Given the description of an element on the screen output the (x, y) to click on. 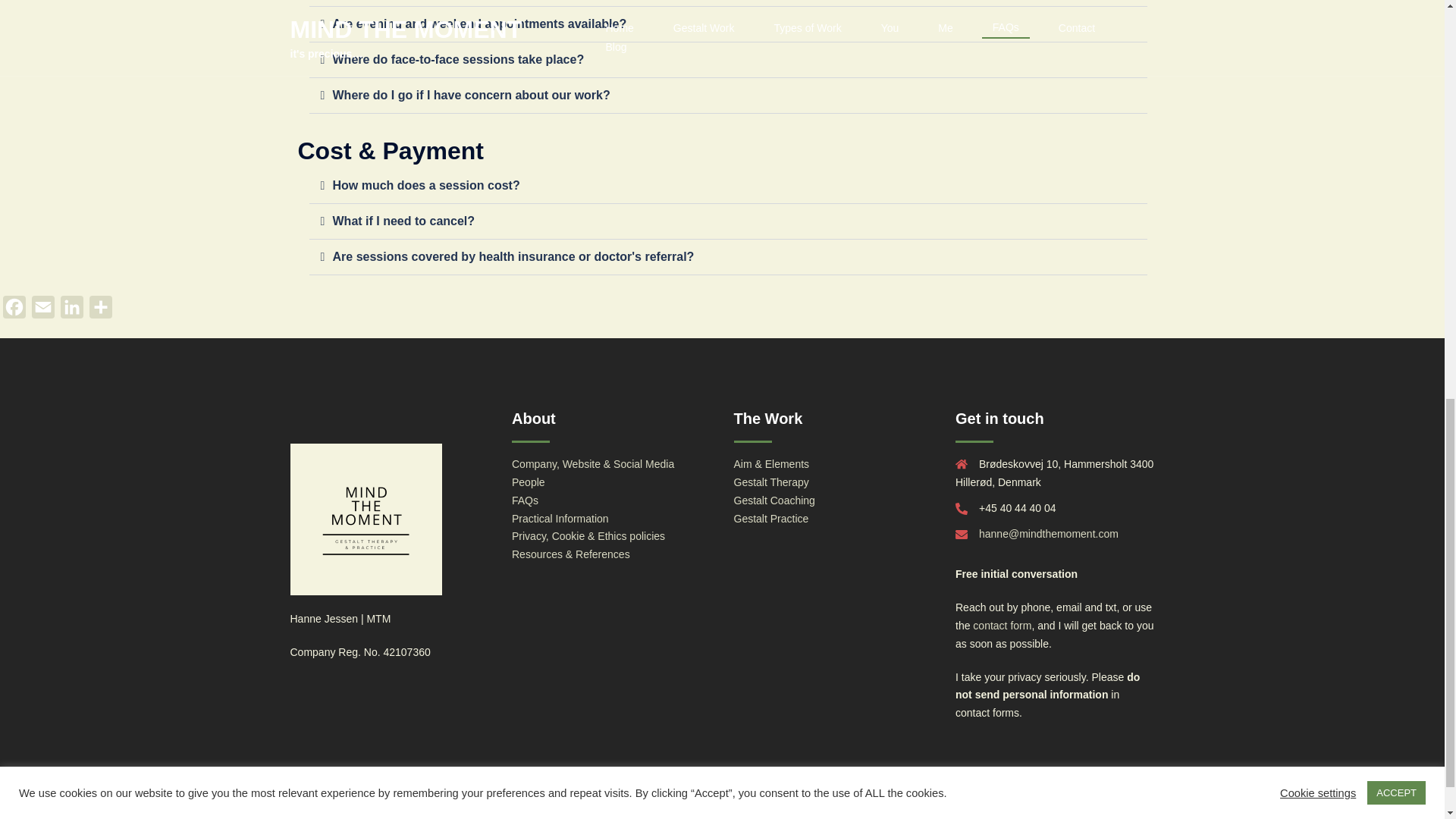
Where do face-to-face sessions take place? (457, 59)
What if I need to cancel? (402, 220)
Are evening and weekend appointments available? (478, 23)
Facebook (14, 310)
How much does a session cost? (425, 185)
Email (43, 310)
LinkedIn (71, 310)
Where do I go if I have concern about our work? (470, 94)
Facebook (14, 310)
